Given the description of an element on the screen output the (x, y) to click on. 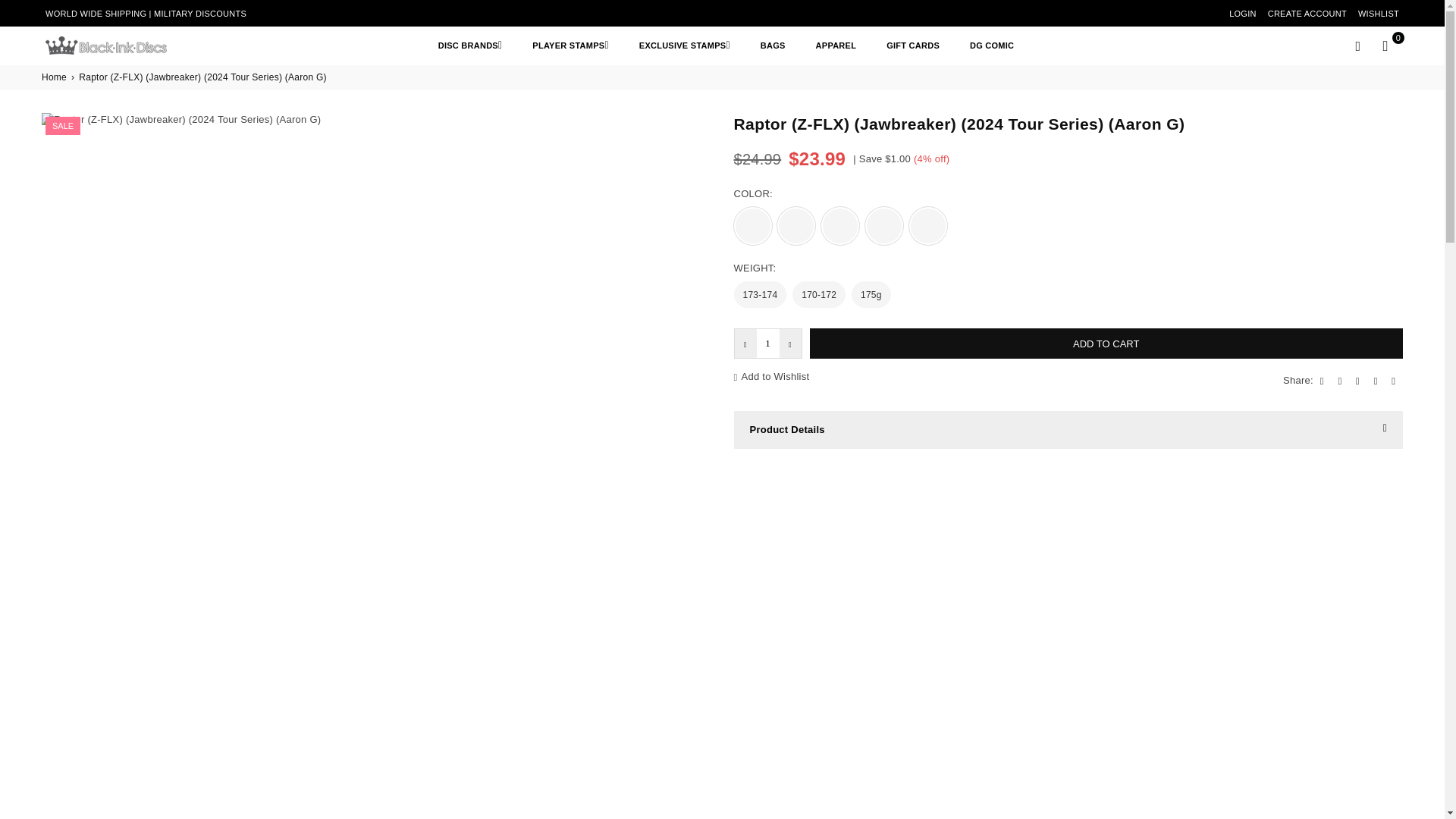
WISHLIST (1378, 13)
PLAYER STAMPS (570, 45)
CREATE ACCOUNT (1307, 13)
Quantity (767, 343)
Cart (1385, 45)
LOGIN (1242, 13)
BLACK INK DISCS (117, 45)
Search (1357, 45)
MILITARY DISCOUNTS (200, 13)
DISC BRANDS (469, 45)
Back to the home page (55, 77)
